Given the description of an element on the screen output the (x, y) to click on. 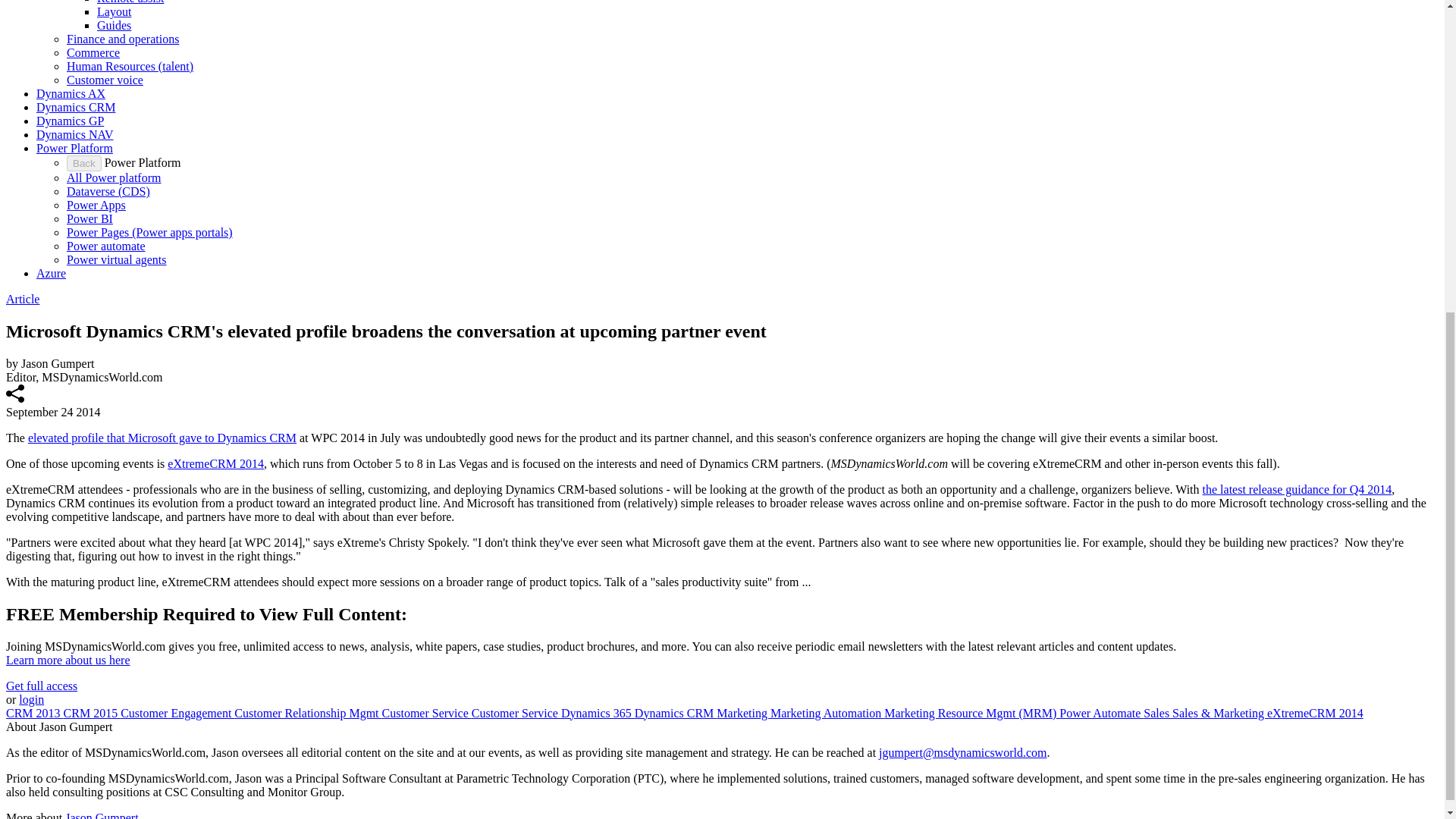
Dynamics AX (70, 92)
Guides (114, 24)
Customer voice (104, 79)
Commerce (92, 51)
Layout (114, 11)
Remote assist (130, 2)
Dynamics CRM (75, 106)
Finance and operations (122, 38)
